Given the description of an element on the screen output the (x, y) to click on. 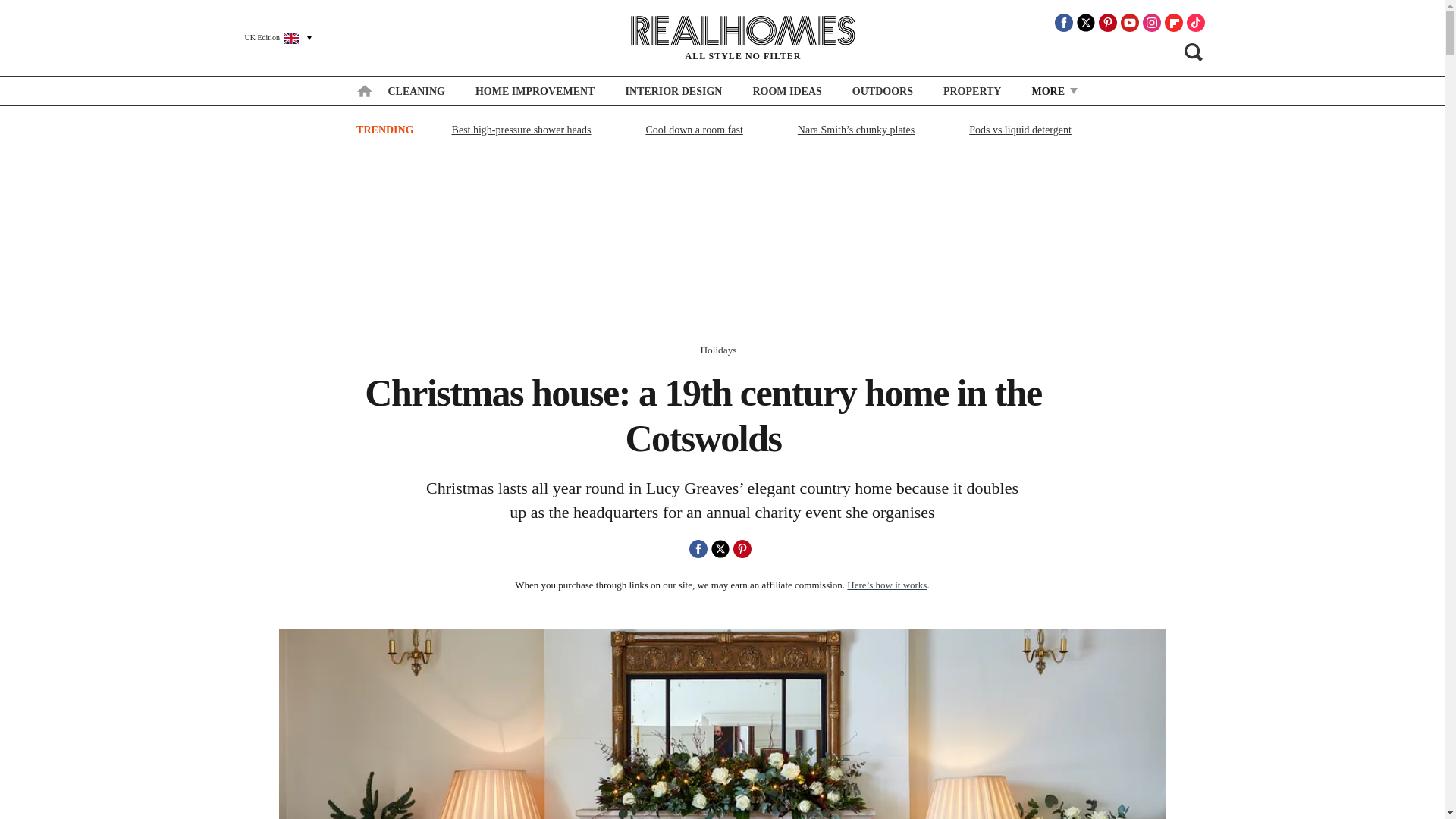
OUTDOORS (881, 90)
CLEANING (415, 90)
ALL STYLE NO FILTER (742, 38)
Pods vs liquid detergent (1020, 129)
PROPERTY (972, 90)
Best high-pressure shower heads (521, 129)
UK Edition (271, 37)
HOME IMPROVEMENT (535, 90)
Holidays (718, 349)
ROOM IDEAS (786, 90)
INTERIOR DESIGN (673, 90)
Cool down a room fast (694, 129)
Advertisement (722, 250)
